Given the description of an element on the screen output the (x, y) to click on. 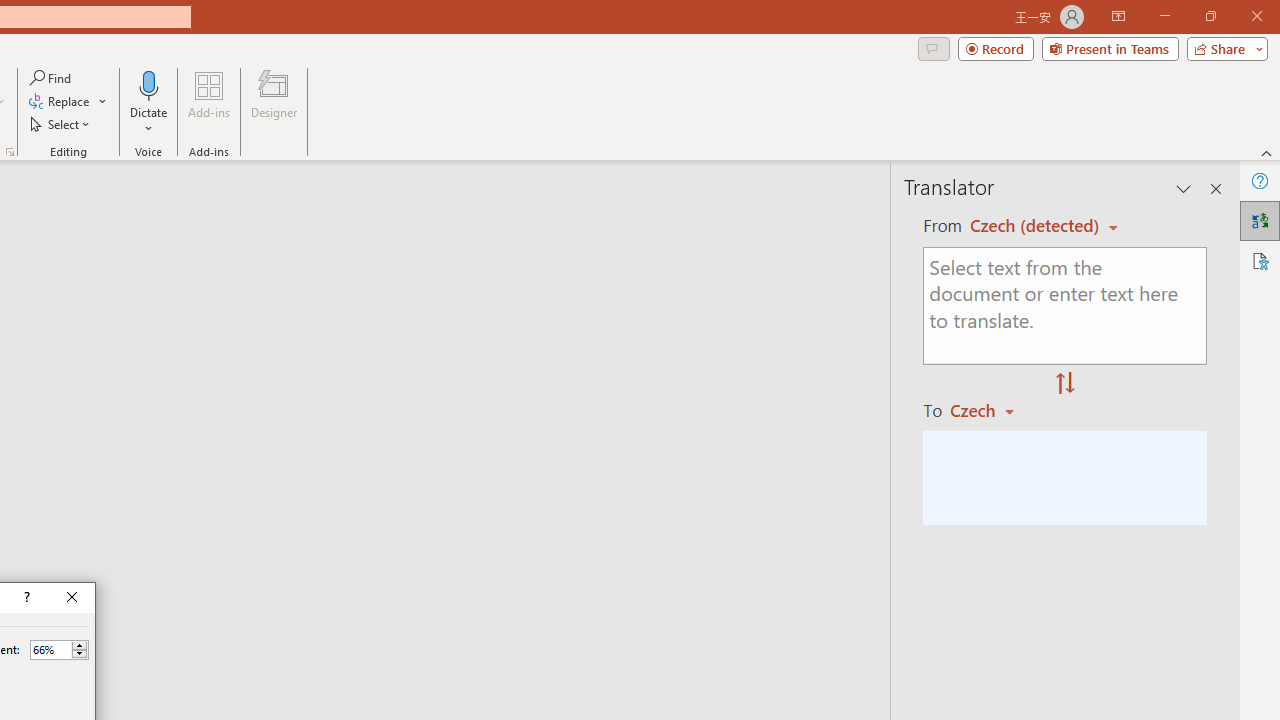
Swap "from" and "to" languages. (1065, 383)
Percent (50, 649)
Context help (25, 597)
